Given the description of an element on the screen output the (x, y) to click on. 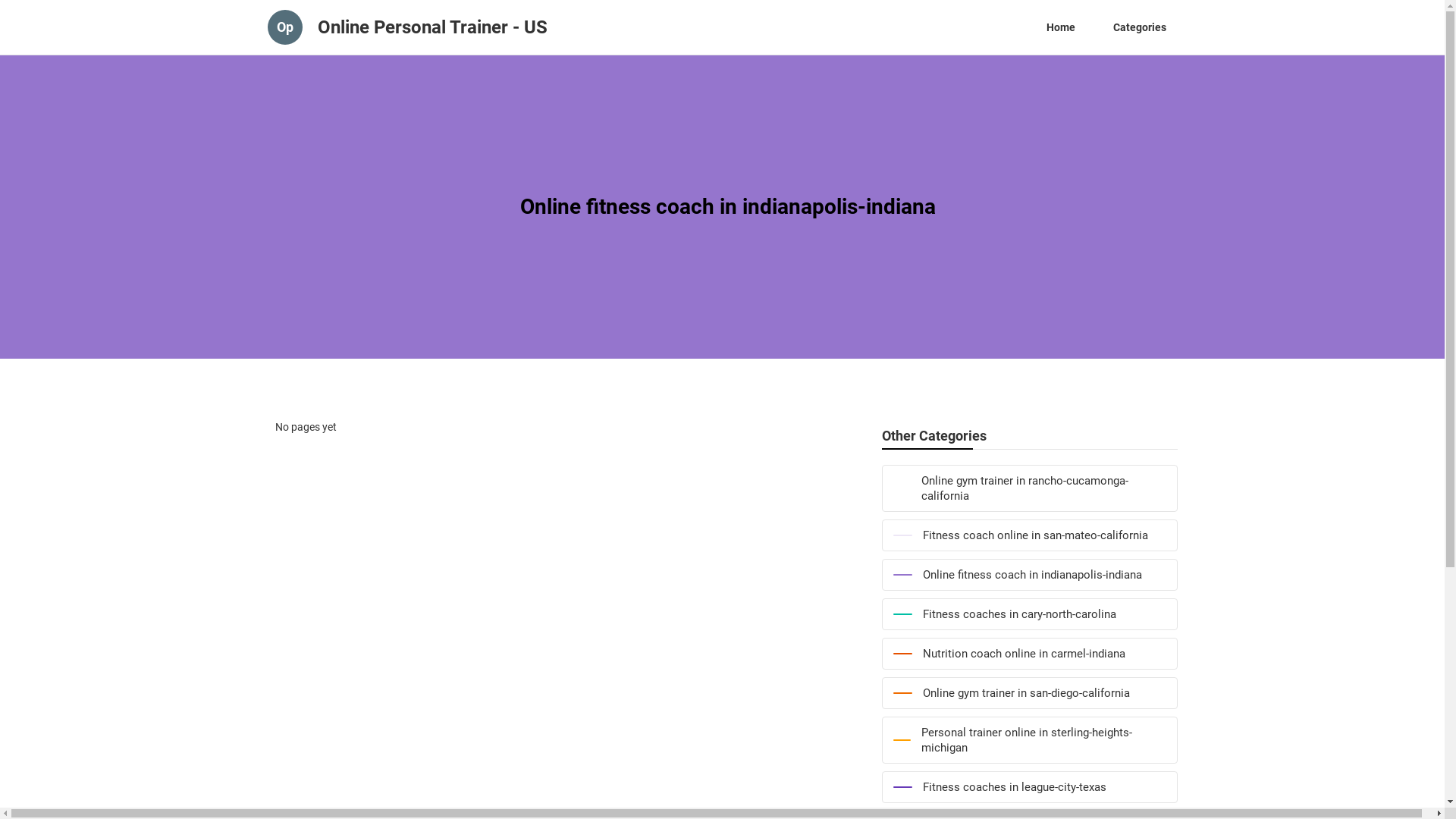
Home Element type: text (1059, 26)
Personal trainer online in sterling-heights-michigan Element type: text (1028, 739)
Online gym trainer in san-diego-california Element type: text (1028, 693)
Fitness coaches in league-city-texas Element type: text (1028, 787)
Fitness coaches in cary-north-carolina Element type: text (1028, 614)
Online gym trainer in rancho-cucamonga-california Element type: text (1028, 487)
Online fitness coach in indianapolis-indiana Element type: text (1028, 574)
Categories Element type: text (1138, 26)
Nutrition coach online in carmel-indiana Element type: text (1028, 653)
Fitness coach online in san-mateo-california Element type: text (1028, 535)
